Given the description of an element on the screen output the (x, y) to click on. 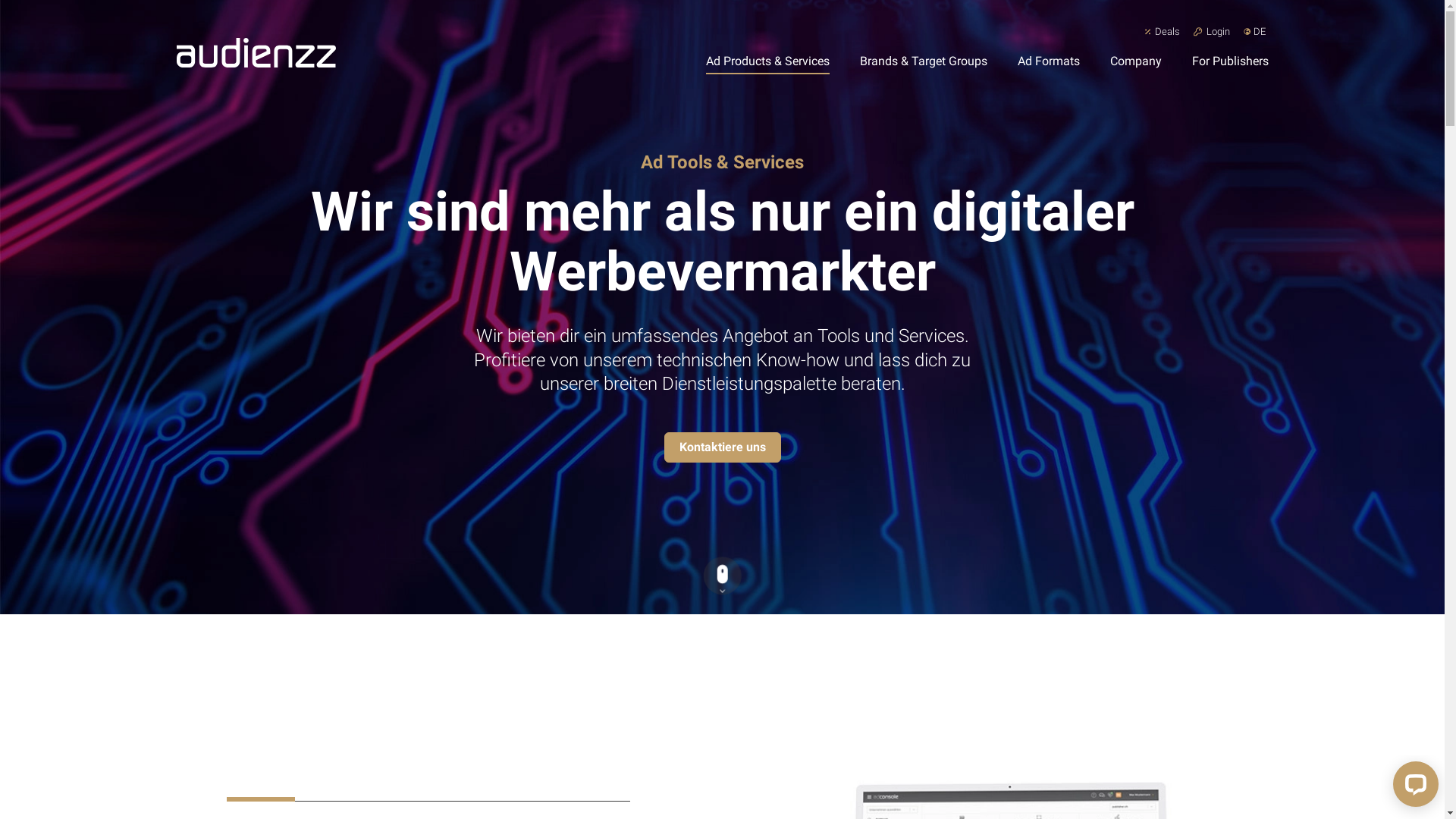
DE Element type: text (1259, 31)
Kontaktiere uns Element type: text (722, 447)
Deals Element type: text (1162, 33)
For Publishers Element type: text (1223, 61)
Ad Products & Services Element type: text (766, 61)
Login Element type: text (1211, 33)
Ad Formats Element type: text (1048, 61)
Brands & Target Groups Element type: text (923, 61)
Company Element type: text (1135, 61)
